Given the description of an element on the screen output the (x, y) to click on. 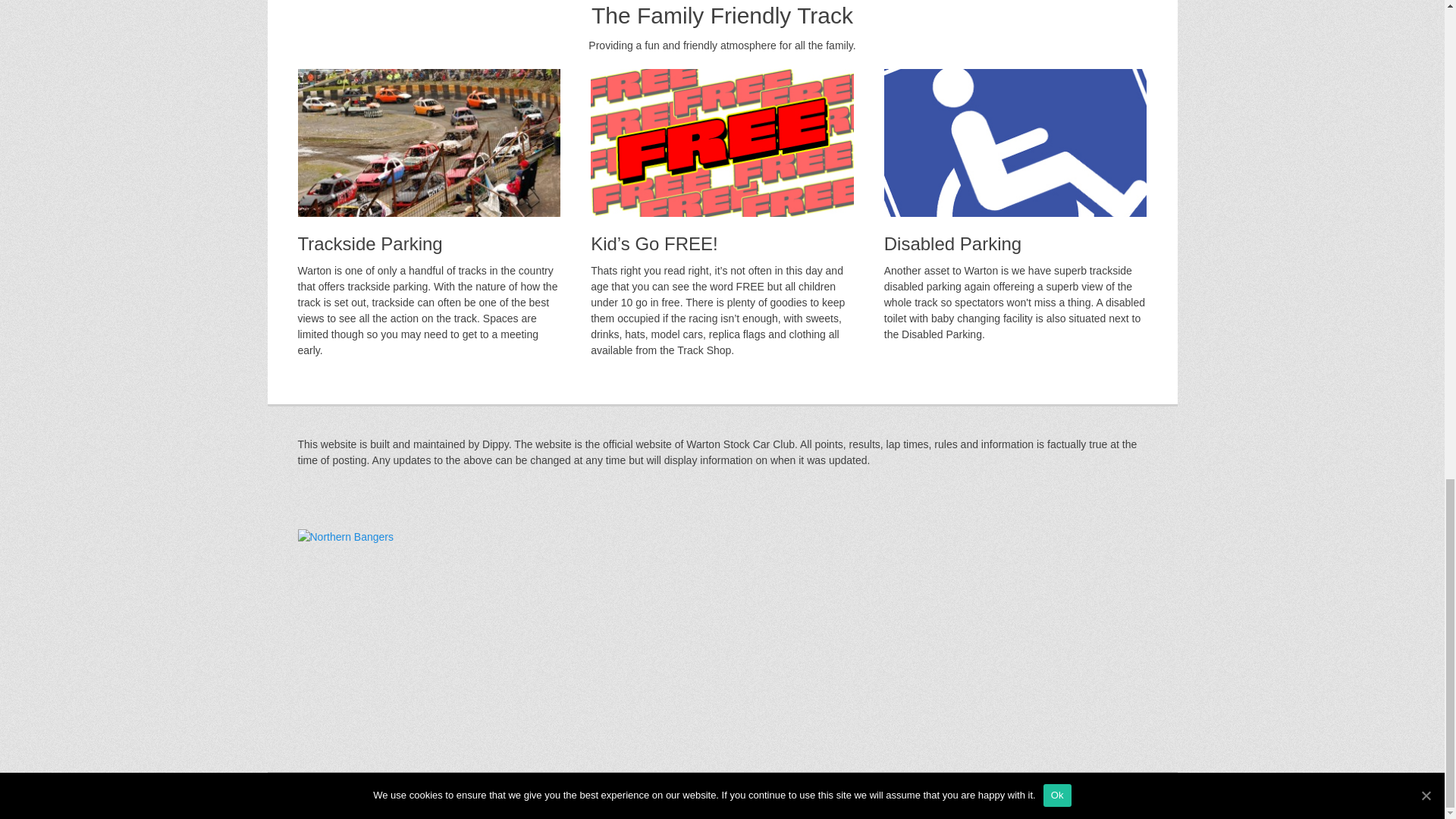
Trackside Parking (428, 142)
